Given the description of an element on the screen output the (x, y) to click on. 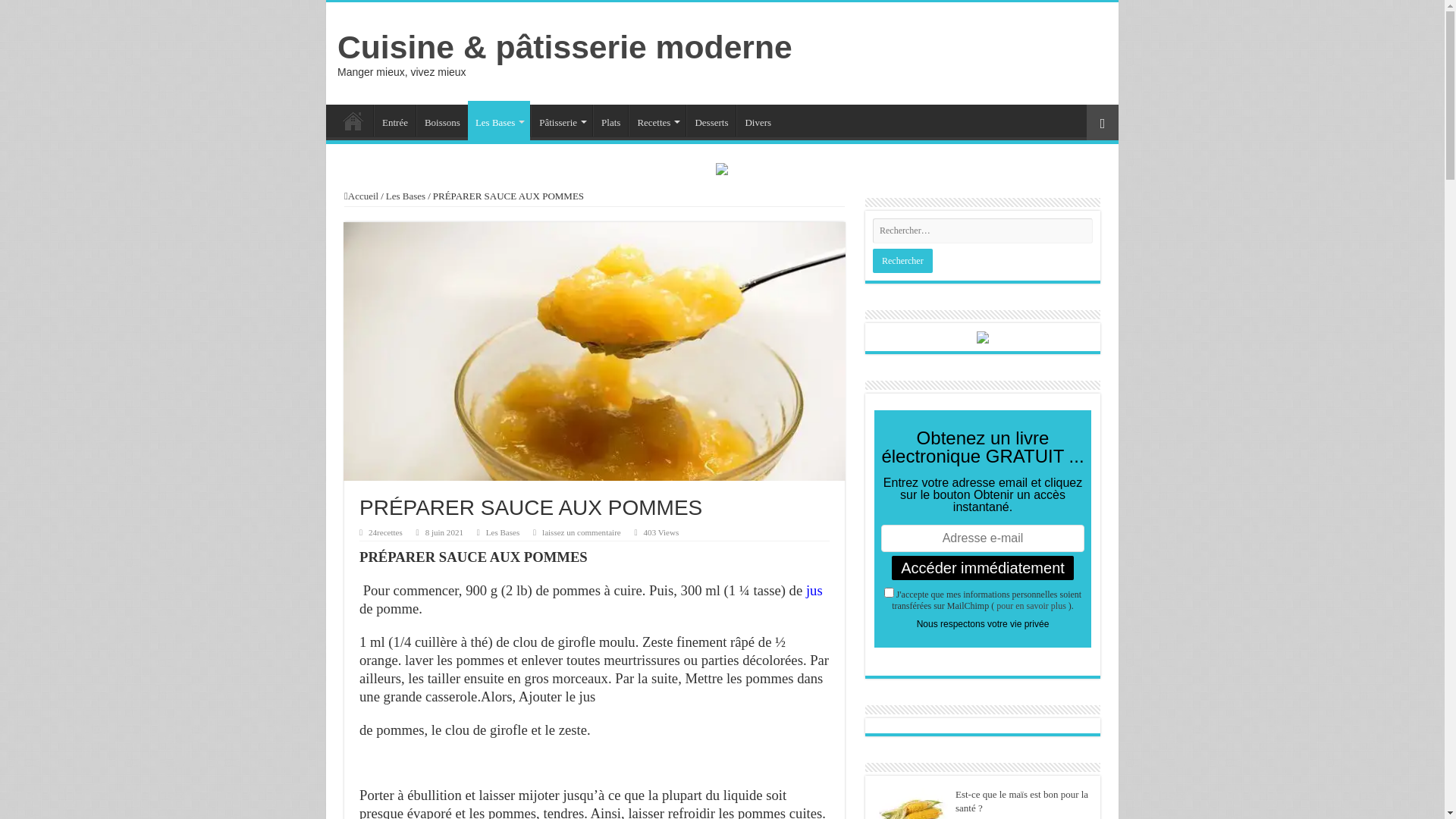
laissez un commentaire Element type: text (581, 531)
Plats Element type: text (610, 120)
Accueil Element type: text (353, 120)
Les Bases Element type: text (498, 120)
Accueil Element type: text (361, 195)
Les Bases Element type: text (405, 195)
Divers Element type: text (757, 120)
jus Element type: text (814, 590)
Random Article Element type: hover (1102, 122)
Les Bases Element type: text (502, 531)
Rechercher Element type: text (902, 260)
pour en savoir plus Element type: text (1031, 605)
Boissons Element type: text (441, 120)
24recettes Element type: text (385, 531)
Recettes Element type: text (656, 120)
Desserts Element type: text (710, 120)
